Given the description of an element on the screen output the (x, y) to click on. 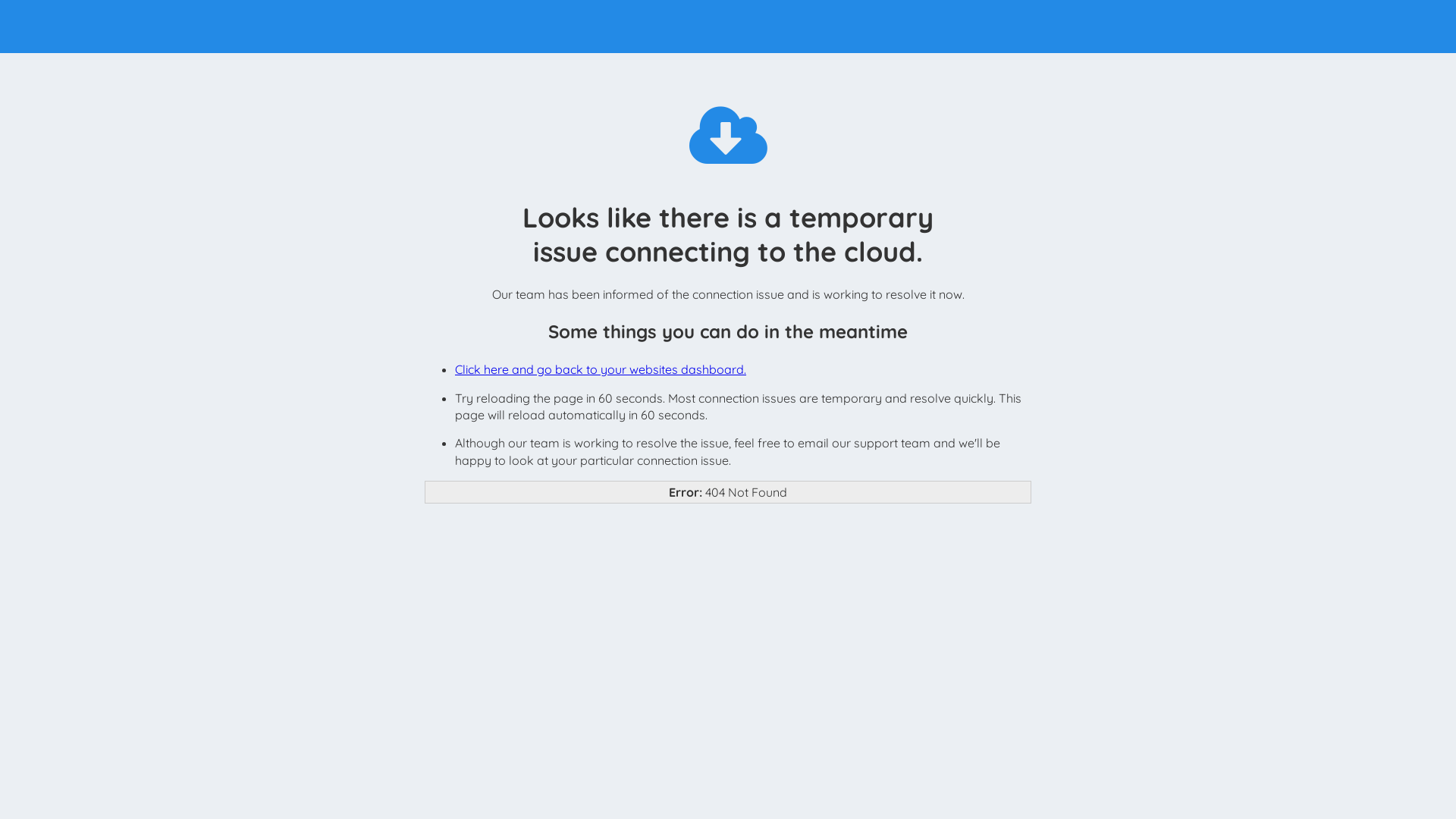
Click here and go back to your websites dashboard. Element type: text (600, 368)
